Given the description of an element on the screen output the (x, y) to click on. 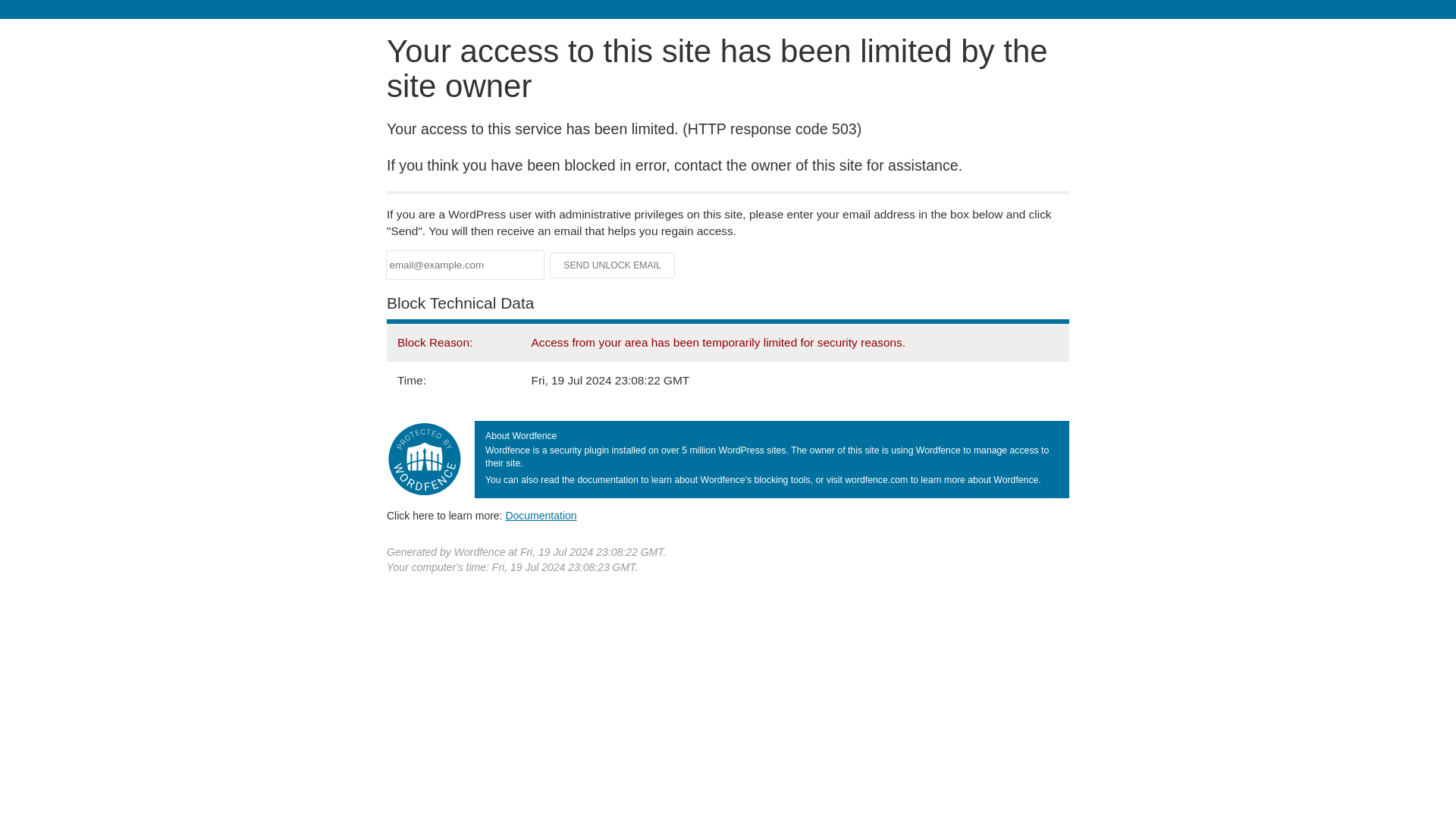
Documentation (540, 515)
Send Unlock Email (612, 265)
Send Unlock Email (612, 265)
